Given the description of an element on the screen output the (x, y) to click on. 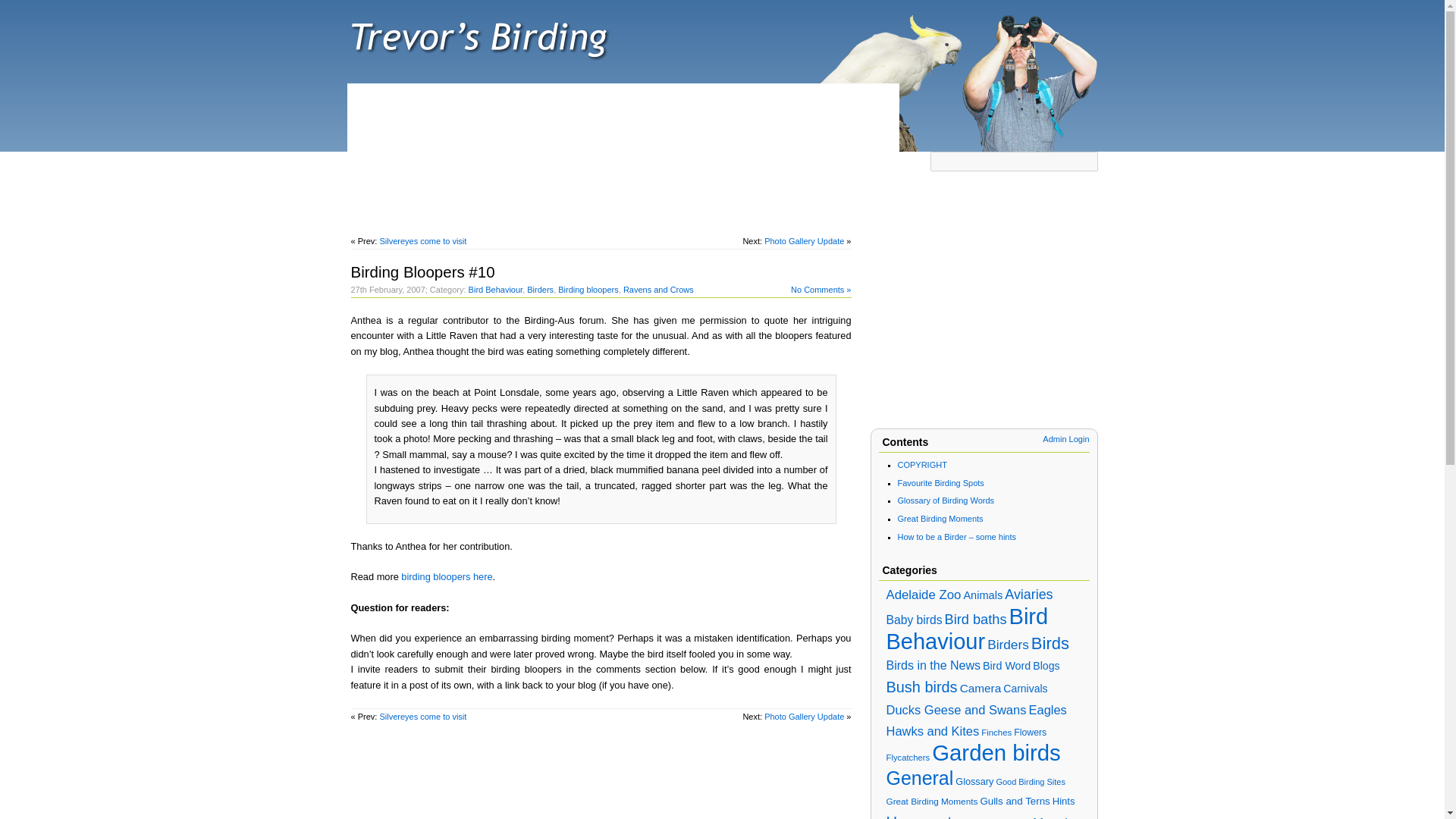
Twitter (612, 170)
COPYRIGHT (922, 464)
Interesting Links (681, 170)
Bird Behaviour (966, 628)
birding bloopers here (446, 576)
Glossary of Birding Words (946, 500)
Birders (540, 289)
Home (381, 170)
LinkedIn Profile (865, 170)
Photo Gallery Update (804, 240)
Aviaries (1028, 594)
Contact (755, 170)
Birding bloopers (587, 289)
Advertisement (623, 117)
Home Page (381, 170)
